Given the description of an element on the screen output the (x, y) to click on. 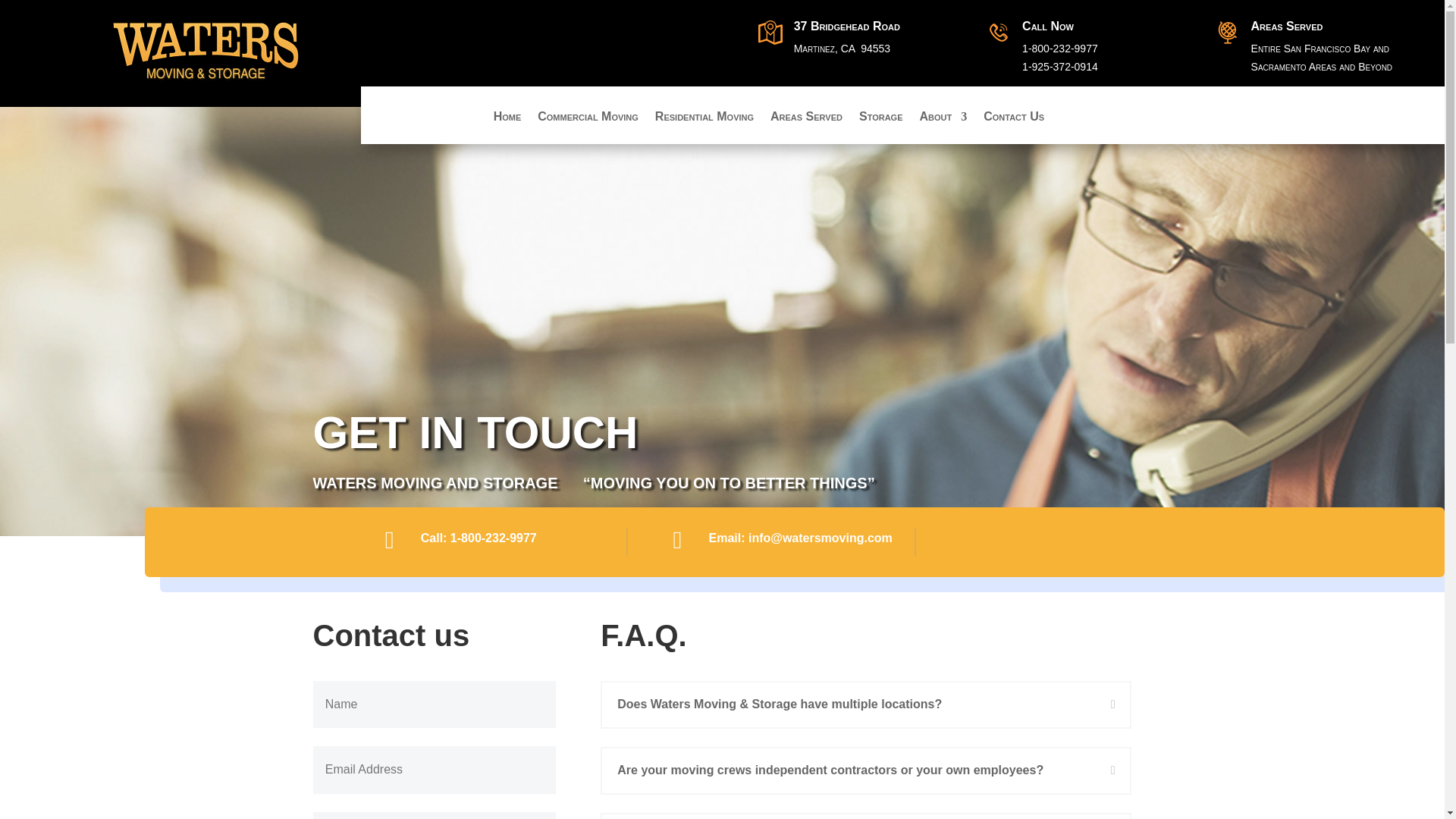
About (942, 127)
Home (507, 127)
Storage (880, 127)
Only numbers allowed. (434, 815)
Areas Served (806, 127)
Contact Us (1013, 127)
Commercial Moving (588, 127)
Residential Moving (704, 127)
Call: 1-800-232-9977 (478, 537)
